Given the description of an element on the screen output the (x, y) to click on. 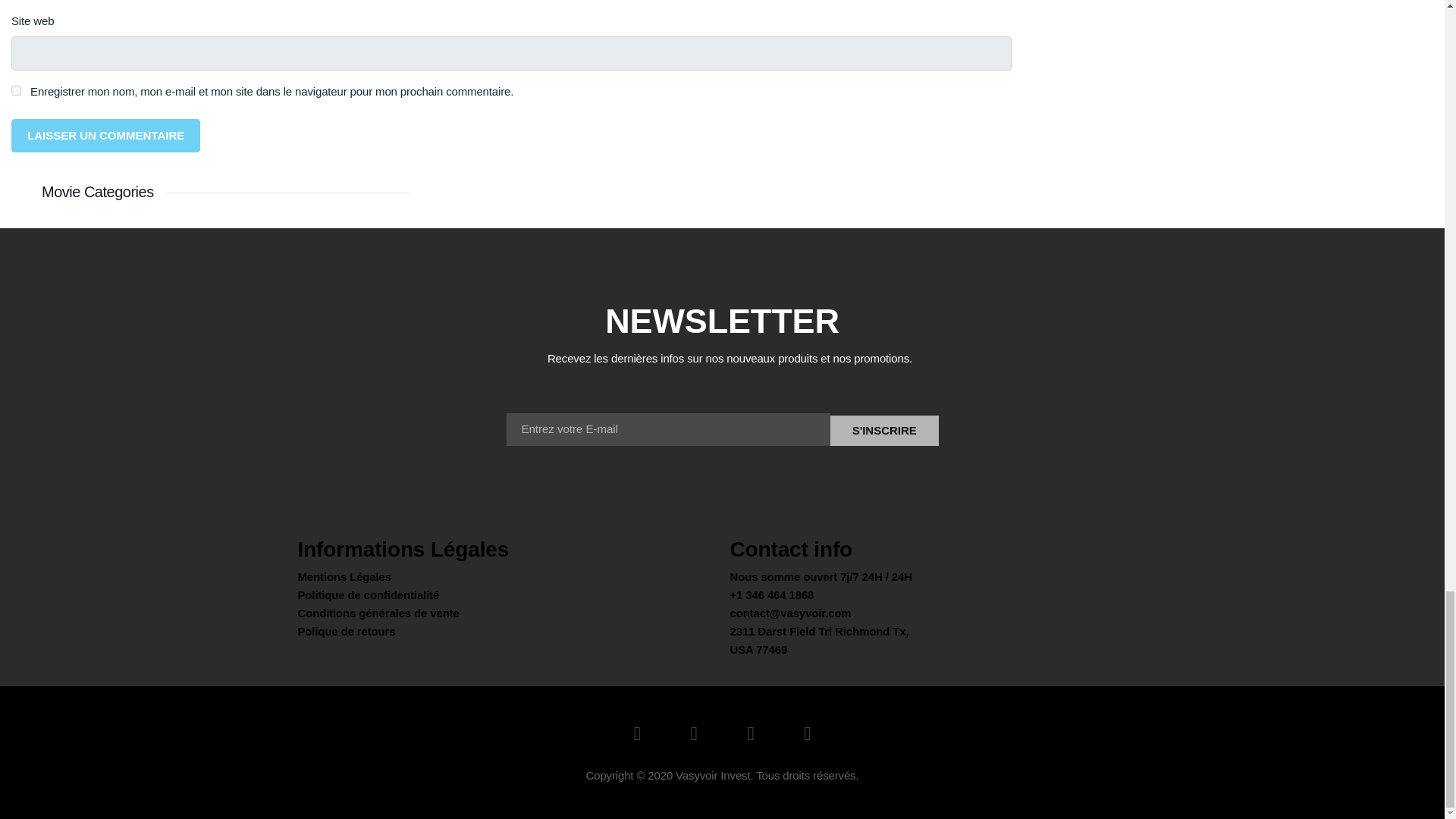
S'INSCRIRE (884, 430)
yes (16, 90)
Laisser un commentaire (105, 135)
Laisser un commentaire (105, 135)
